Given the description of an element on the screen output the (x, y) to click on. 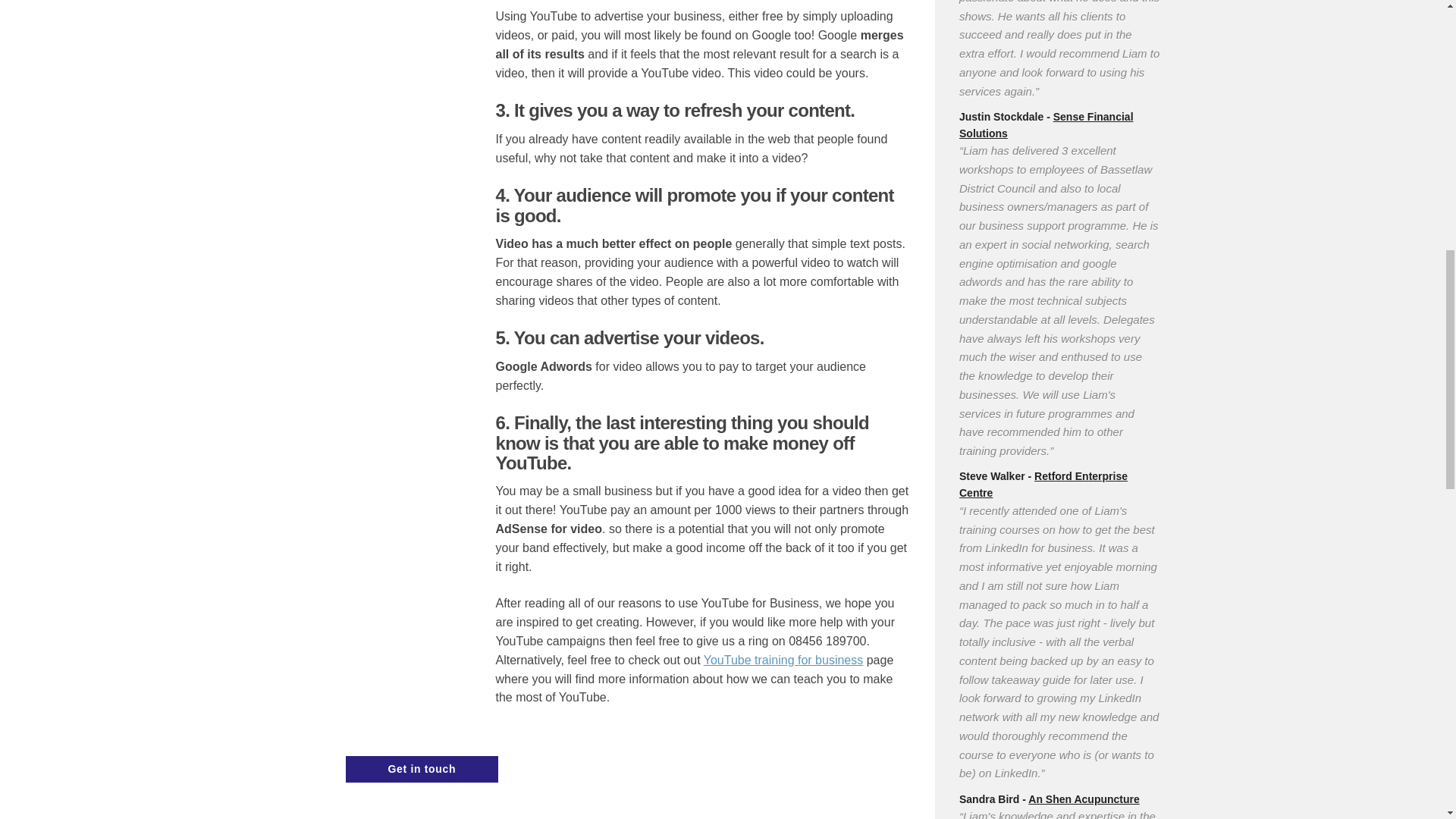
Youtube Training for Business (783, 659)
